Given the description of an element on the screen output the (x, y) to click on. 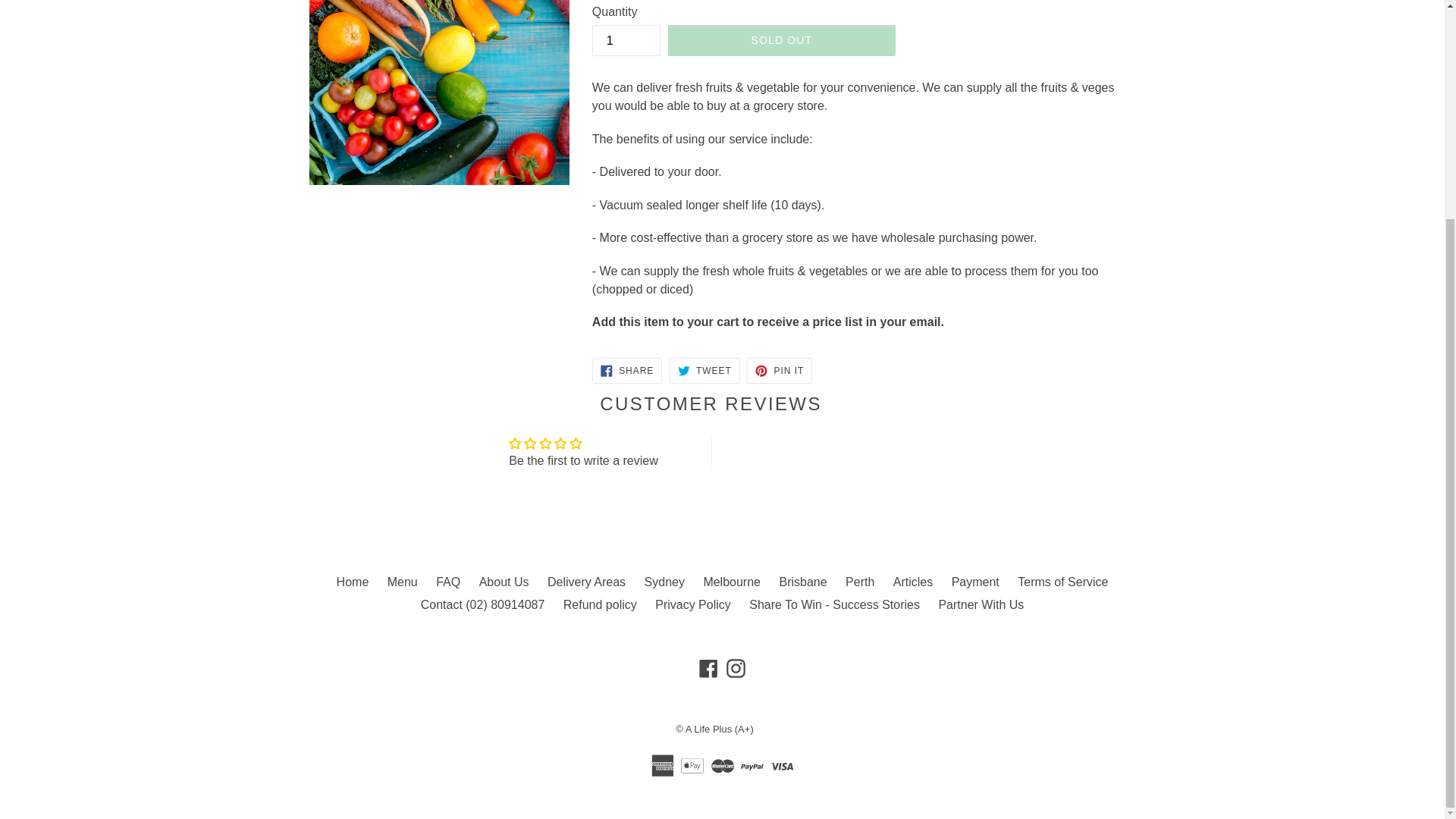
Pin on Pinterest (779, 370)
Share on Facebook (627, 370)
Tweet on Twitter (704, 370)
1 (626, 40)
